Given the description of an element on the screen output the (x, y) to click on. 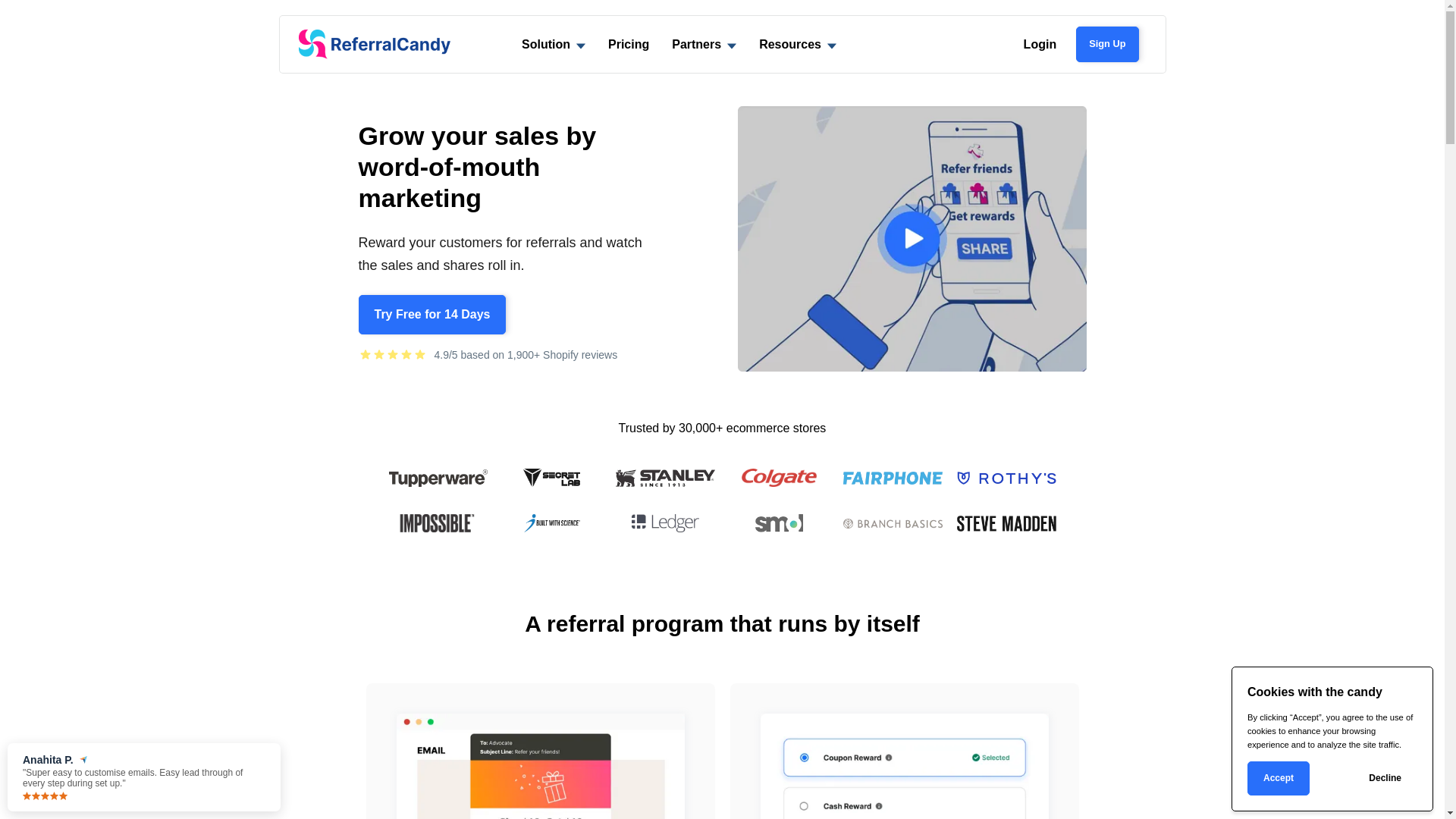
Decline Element type: text (1384, 778)
Try Free for 14 Days Element type: text (431, 314)
Sign Up Element type: text (1107, 43)
Accept Element type: text (1278, 778)
Pricing Element type: text (628, 43)
Login Element type: text (1040, 43)
